Given the description of an element on the screen output the (x, y) to click on. 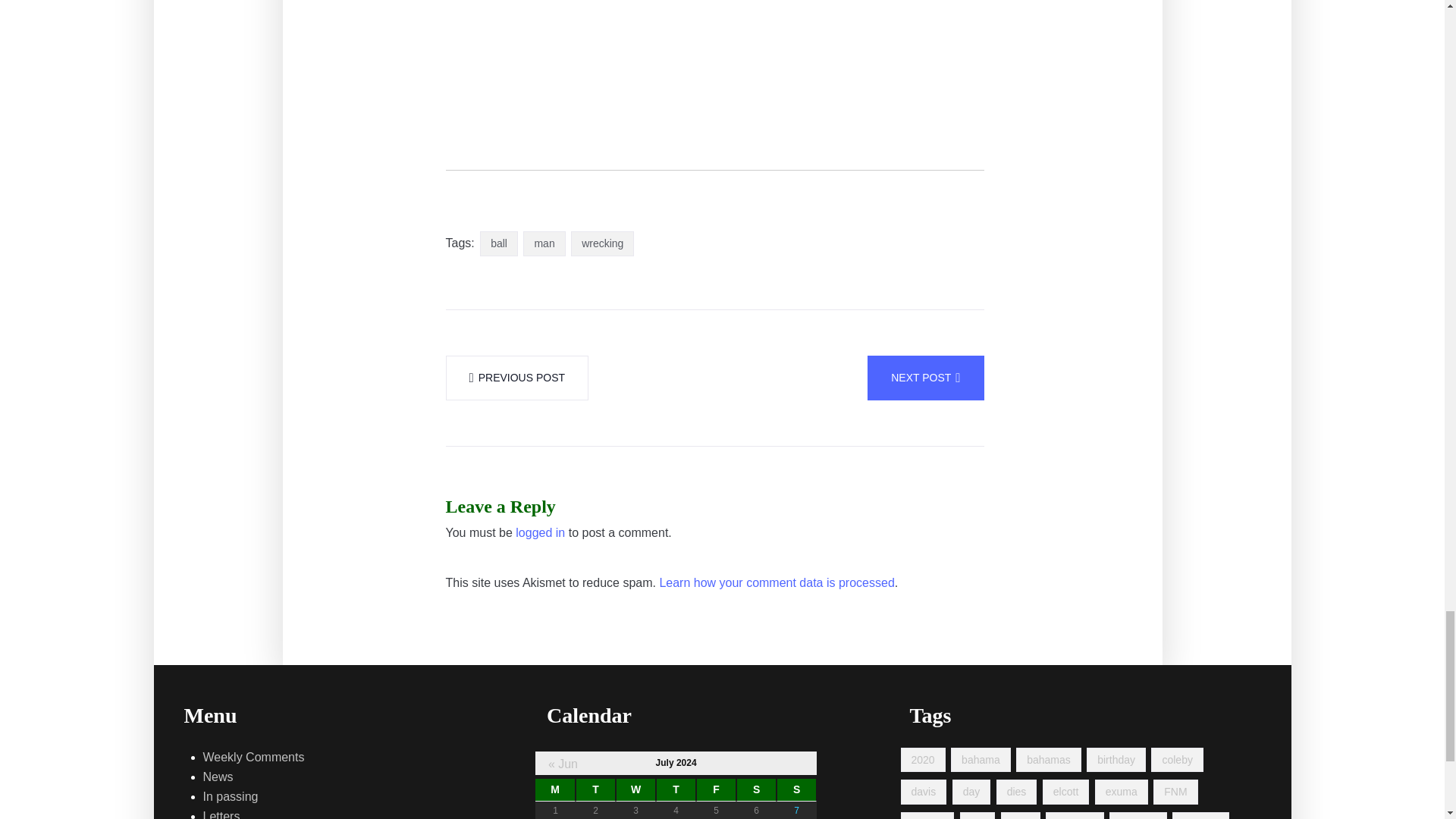
Friday (715, 789)
PREVIOUS POST (517, 377)
man (543, 243)
Monday (555, 789)
Tuesday (595, 789)
Saturday (756, 789)
Sunday (796, 789)
ball (499, 243)
In passing (231, 796)
Thursday (675, 789)
logged in (539, 532)
Wednesday (635, 789)
wrecking (601, 243)
Letters (221, 812)
Weekly Comments (253, 757)
